Given the description of an element on the screen output the (x, y) to click on. 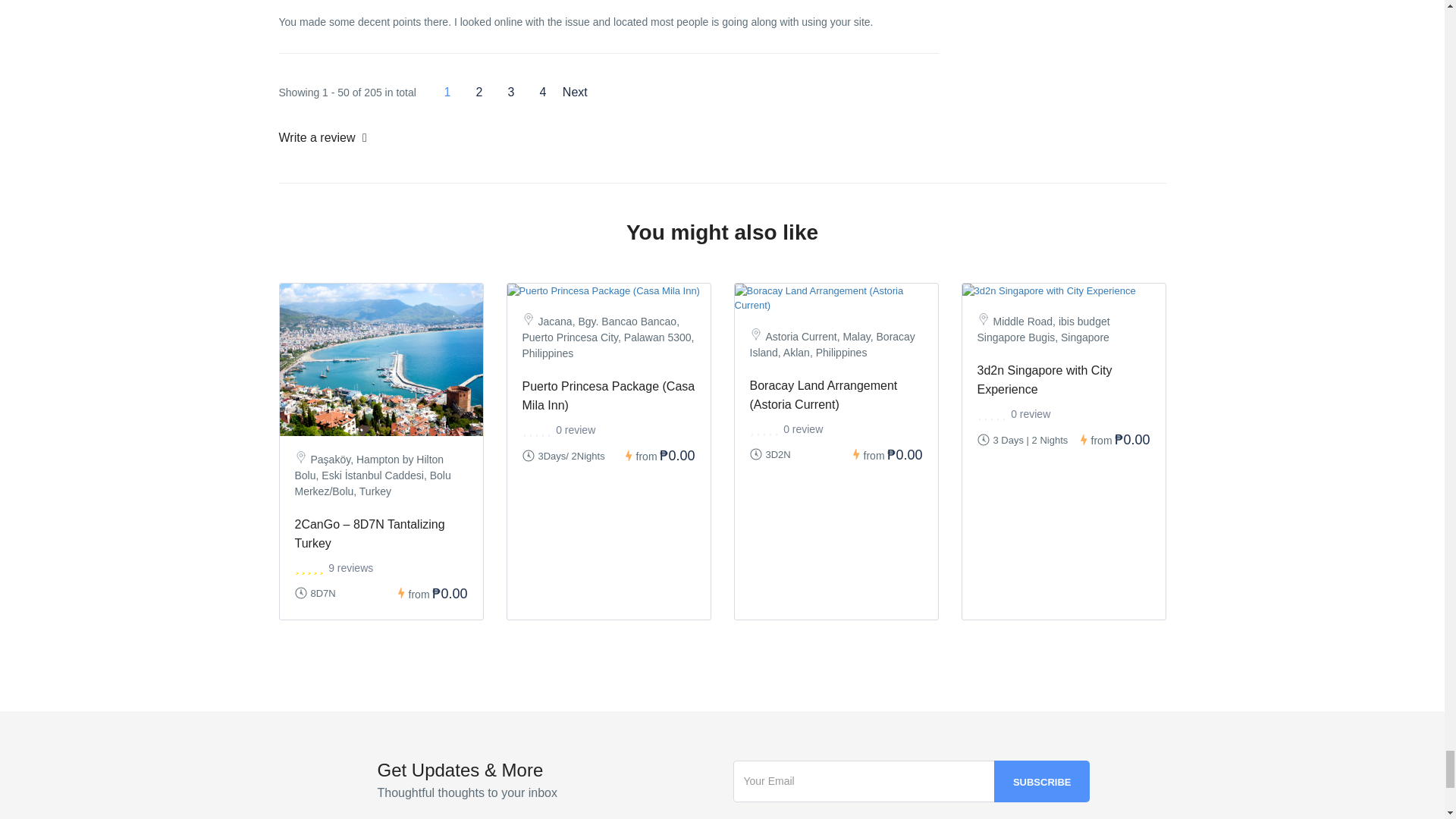
Add to wishlist (690, 308)
next (574, 92)
Add to wishlist (462, 308)
Add to wishlist (918, 308)
Add to wishlist (1145, 308)
Subscribe (1042, 781)
